Given the description of an element on the screen output the (x, y) to click on. 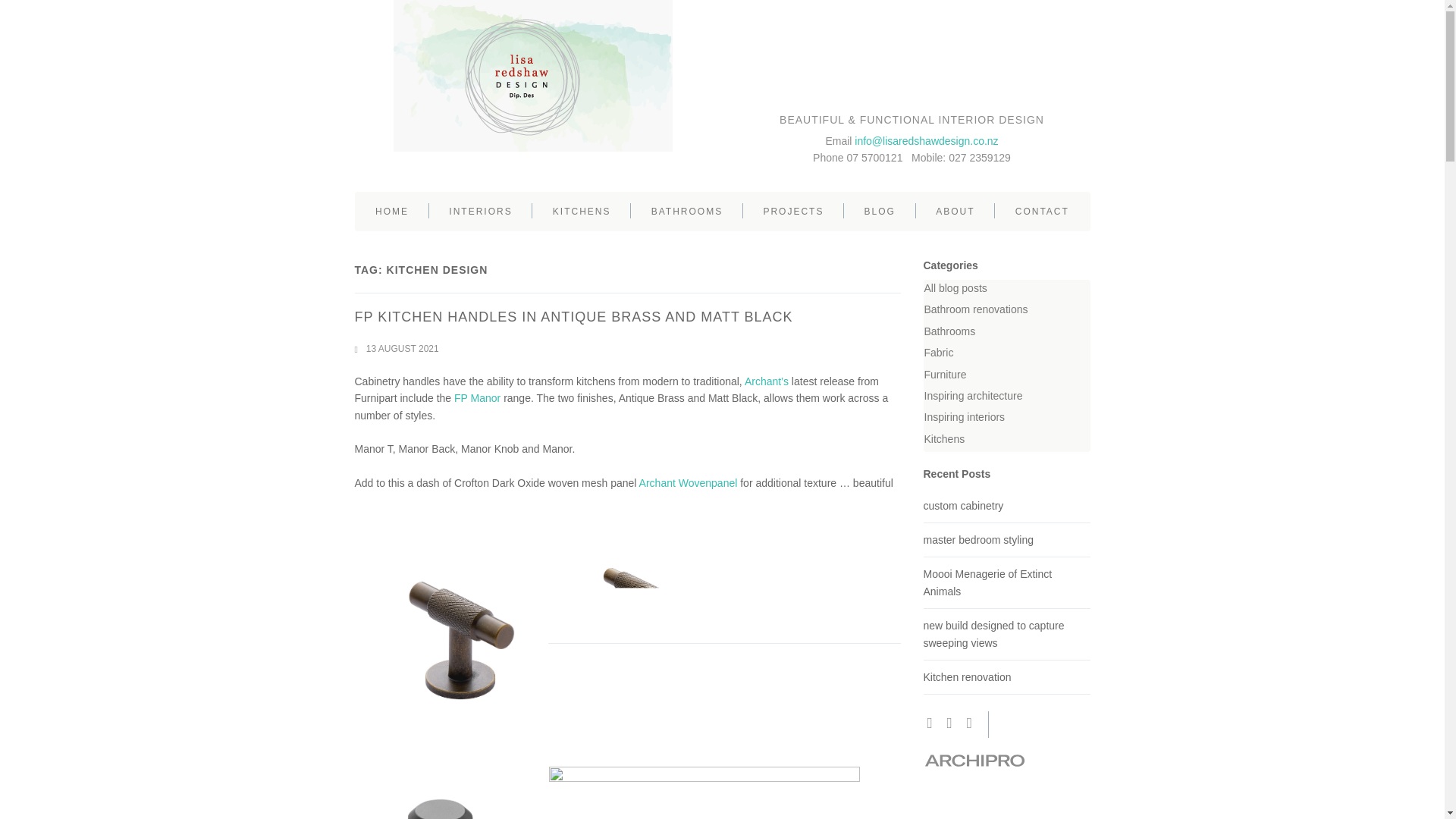
FP Kitchen handles in Antique Brass and Matt Black (574, 316)
Projects (793, 211)
Contact (1041, 211)
PROJECTS (793, 211)
About (955, 211)
ABOUT (955, 211)
Interiors (480, 211)
INTERIORS (480, 211)
Home (391, 211)
FP Manor (477, 398)
